Given the description of an element on the screen output the (x, y) to click on. 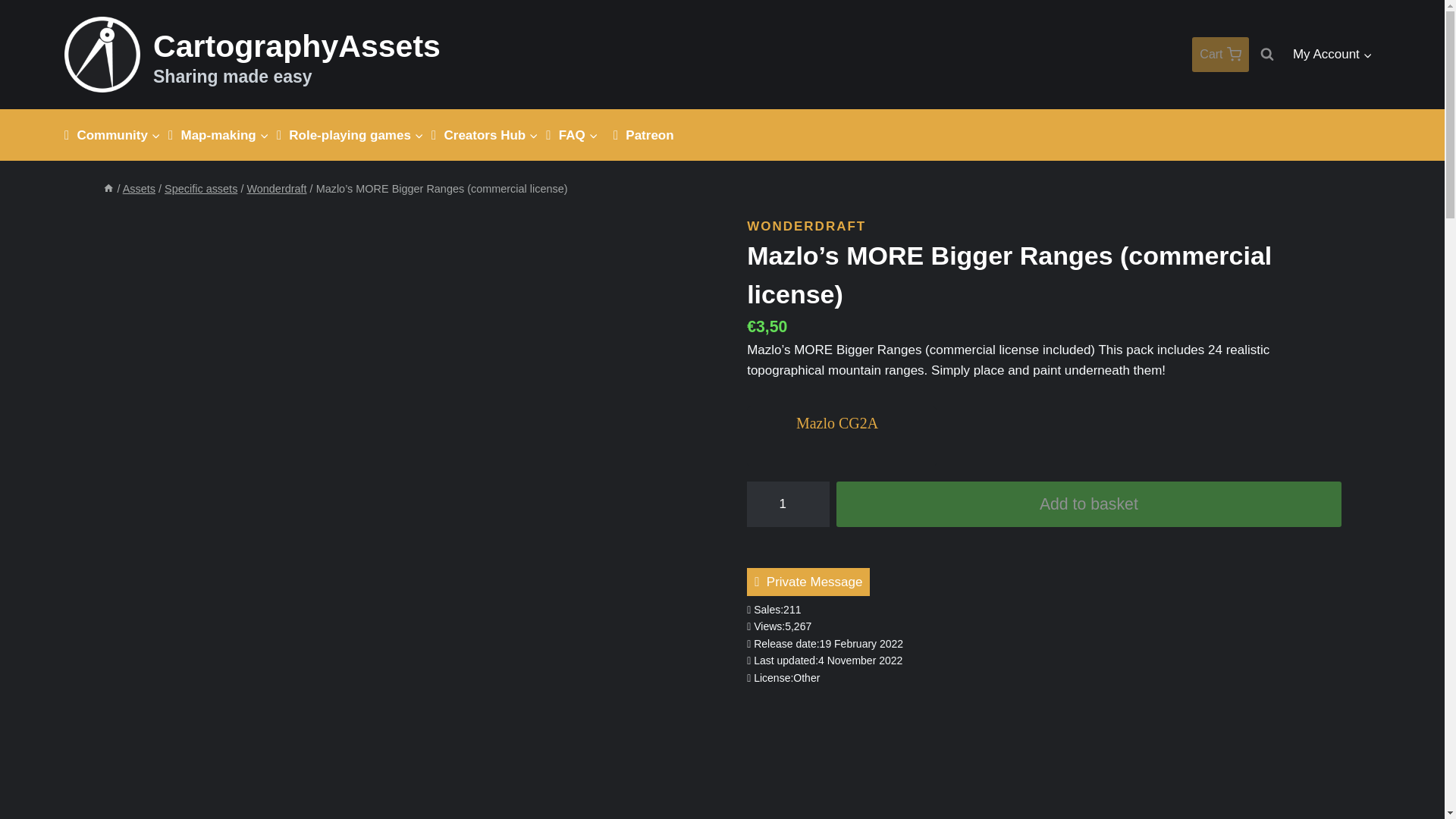
My Account (1332, 54)
1 (787, 504)
Cart (252, 54)
Map-making (1219, 54)
Community (224, 134)
